Given the description of an element on the screen output the (x, y) to click on. 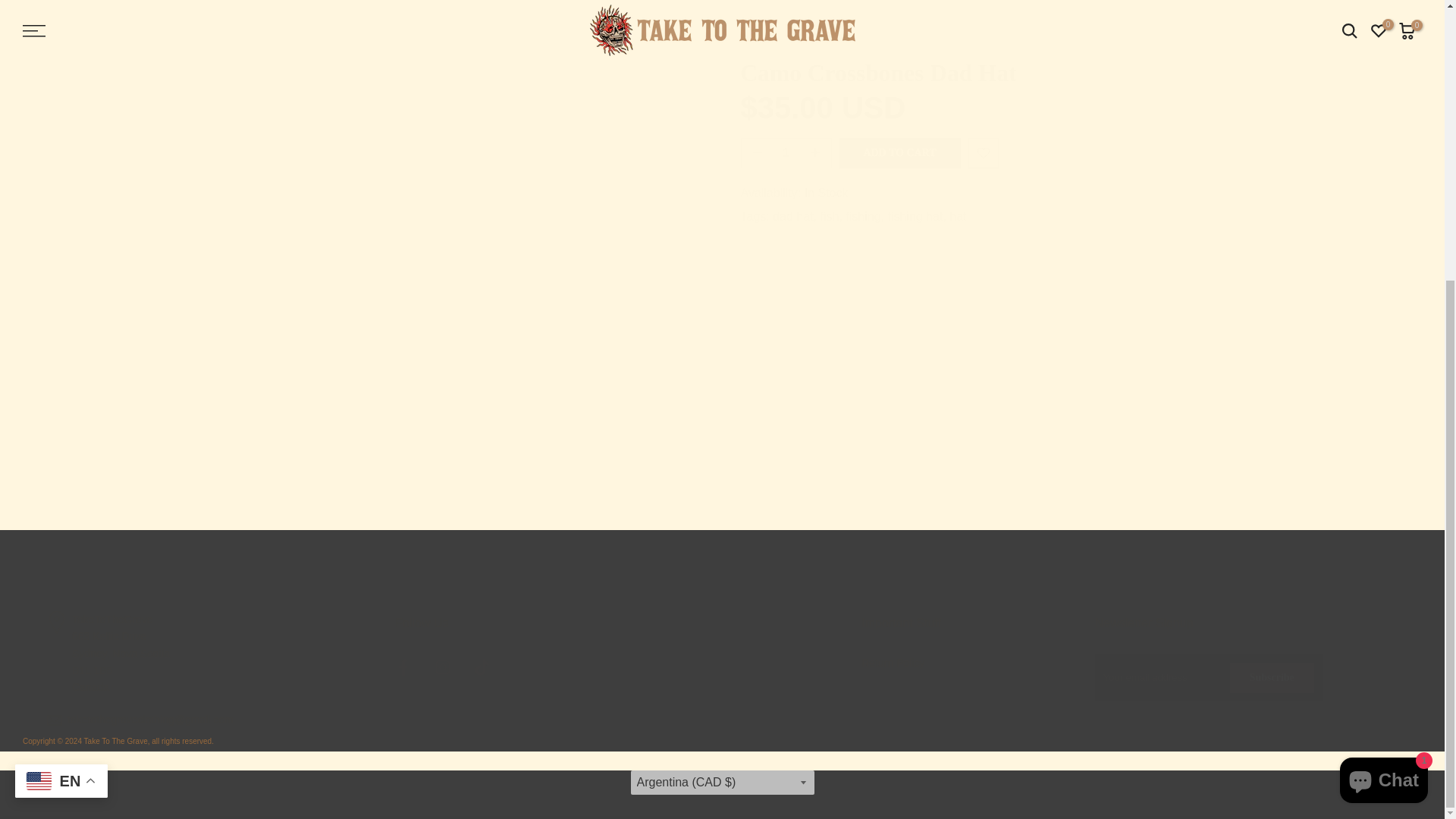
Follow on Tiktok (482, 667)
Follow on Instagram (442, 667)
Shopify online store chat (1383, 363)
1 (799, 435)
Follow on Facebook (403, 667)
Return Policy (892, 662)
Subscribe (1272, 677)
